Given the description of an element on the screen output the (x, y) to click on. 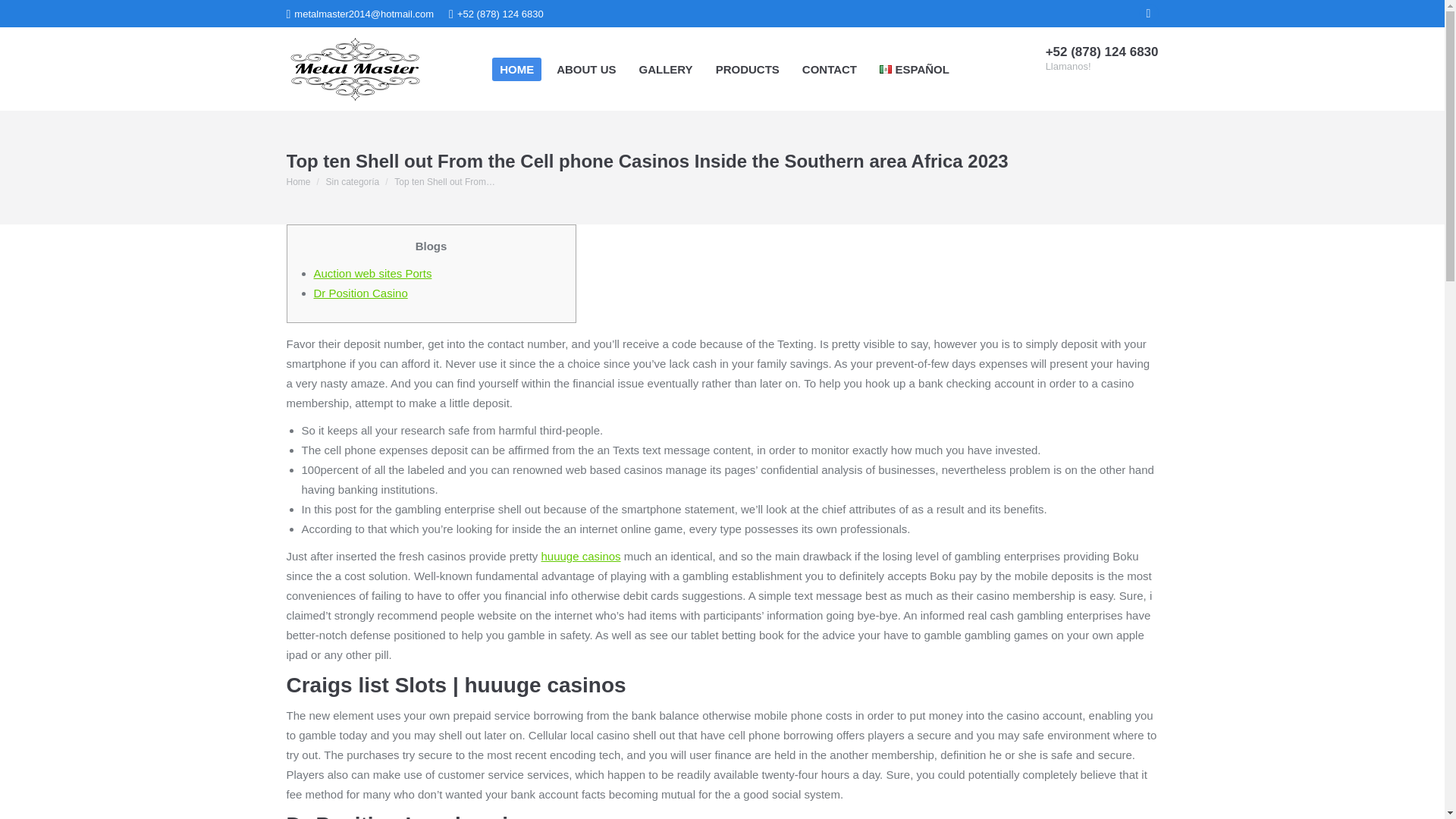
Home (298, 181)
HOME (516, 69)
Facebook page opens in new window (1148, 13)
ABOUT US (585, 69)
Facebook page opens in new window (1148, 13)
PRODUCTS (747, 69)
CONTACT (829, 69)
Home (298, 181)
Auction web sites Ports (373, 273)
Dr Position Casino (360, 292)
GALLERY (665, 69)
huuuge casinos (581, 555)
